Given the description of an element on the screen output the (x, y) to click on. 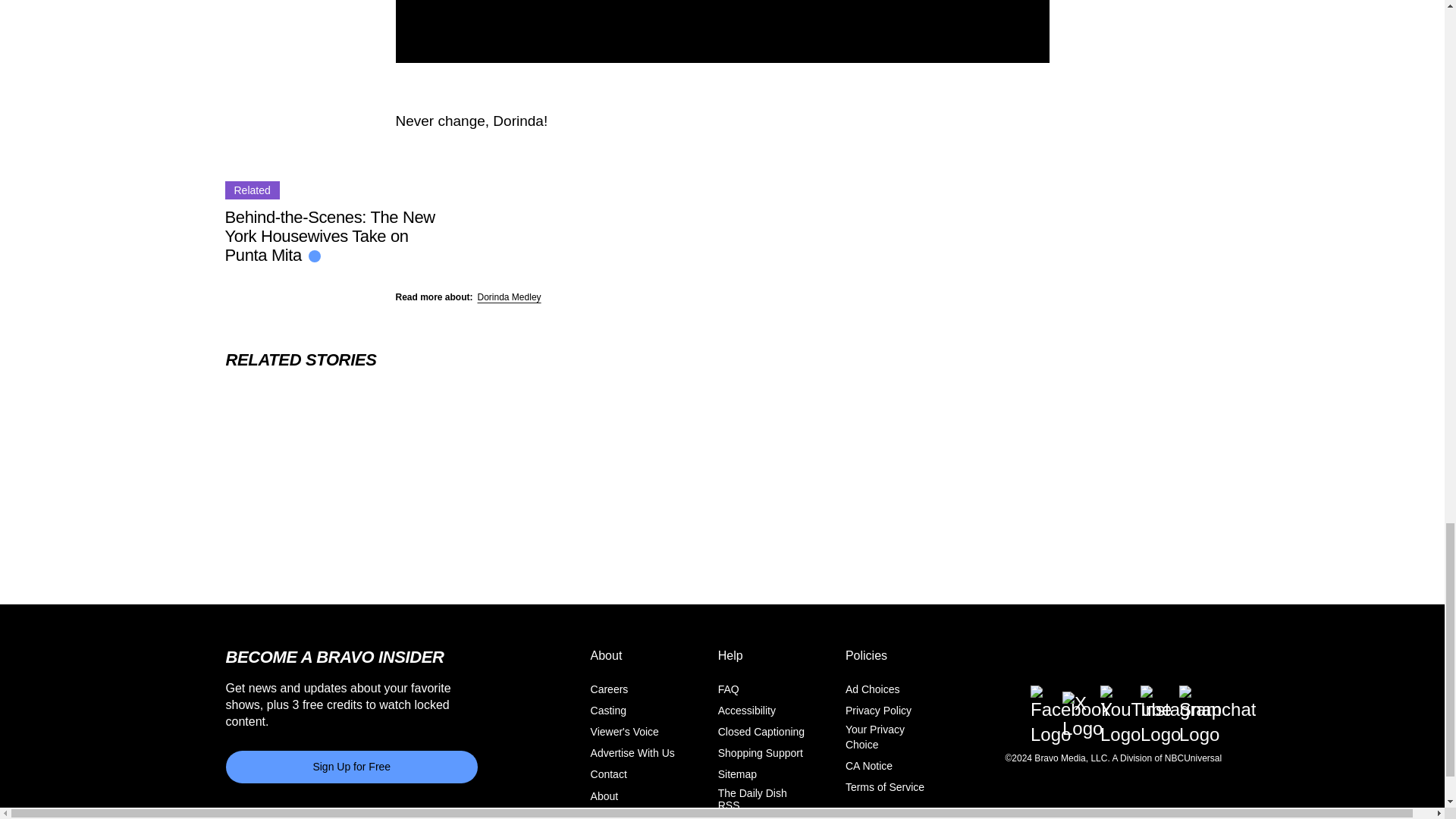
Advertise With Us (633, 753)
Dorinda Medley (509, 296)
